Given the description of an element on the screen output the (x, y) to click on. 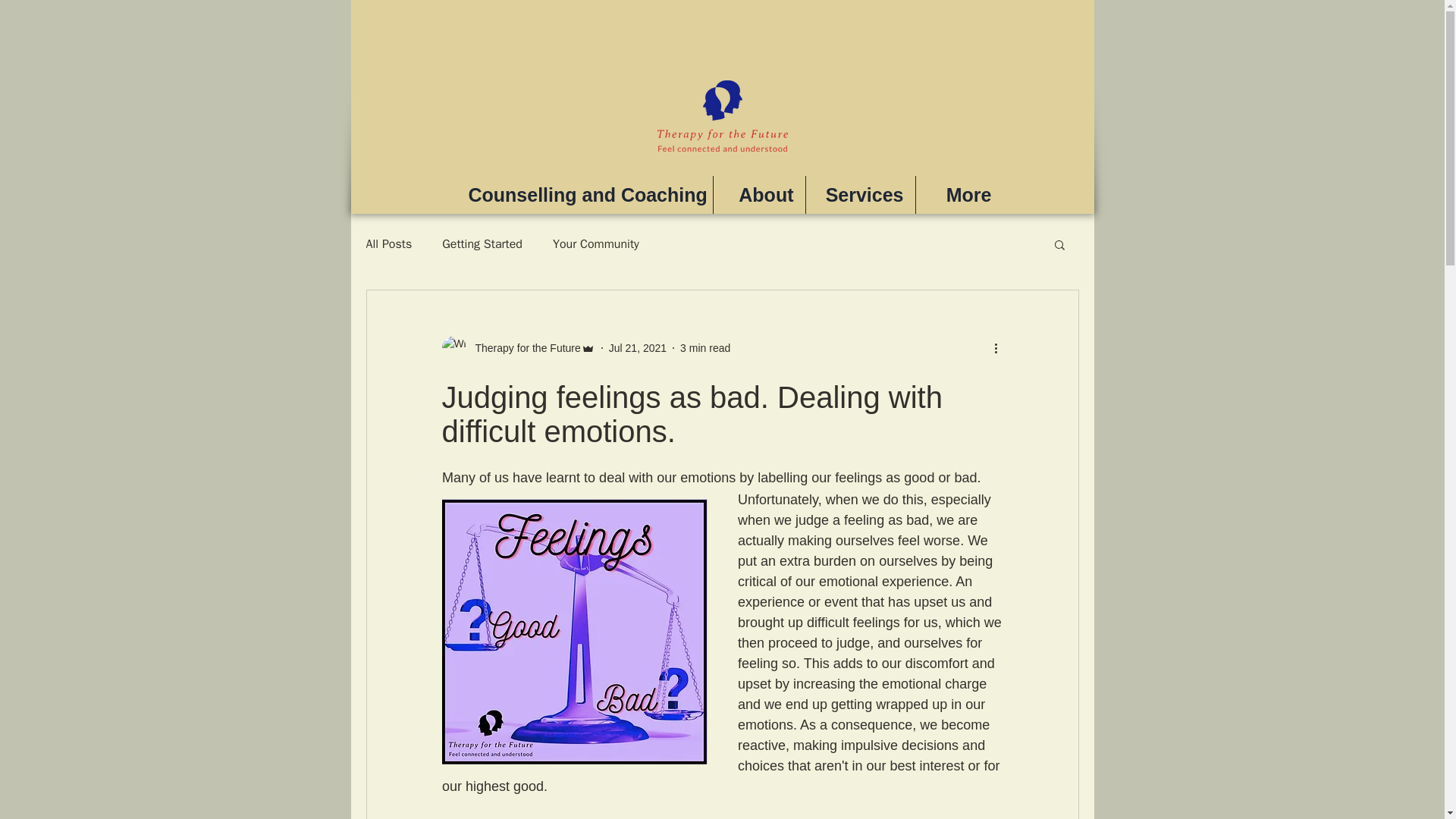
Getting Started (482, 244)
Therapy for the Future  (522, 347)
Services (859, 194)
All Posts (388, 244)
Jul 21, 2021 (637, 346)
3 min read (704, 346)
About (759, 194)
Counselling and Coaching (584, 194)
Therapy for the Future (517, 347)
Your Community (596, 244)
